Given the description of an element on the screen output the (x, y) to click on. 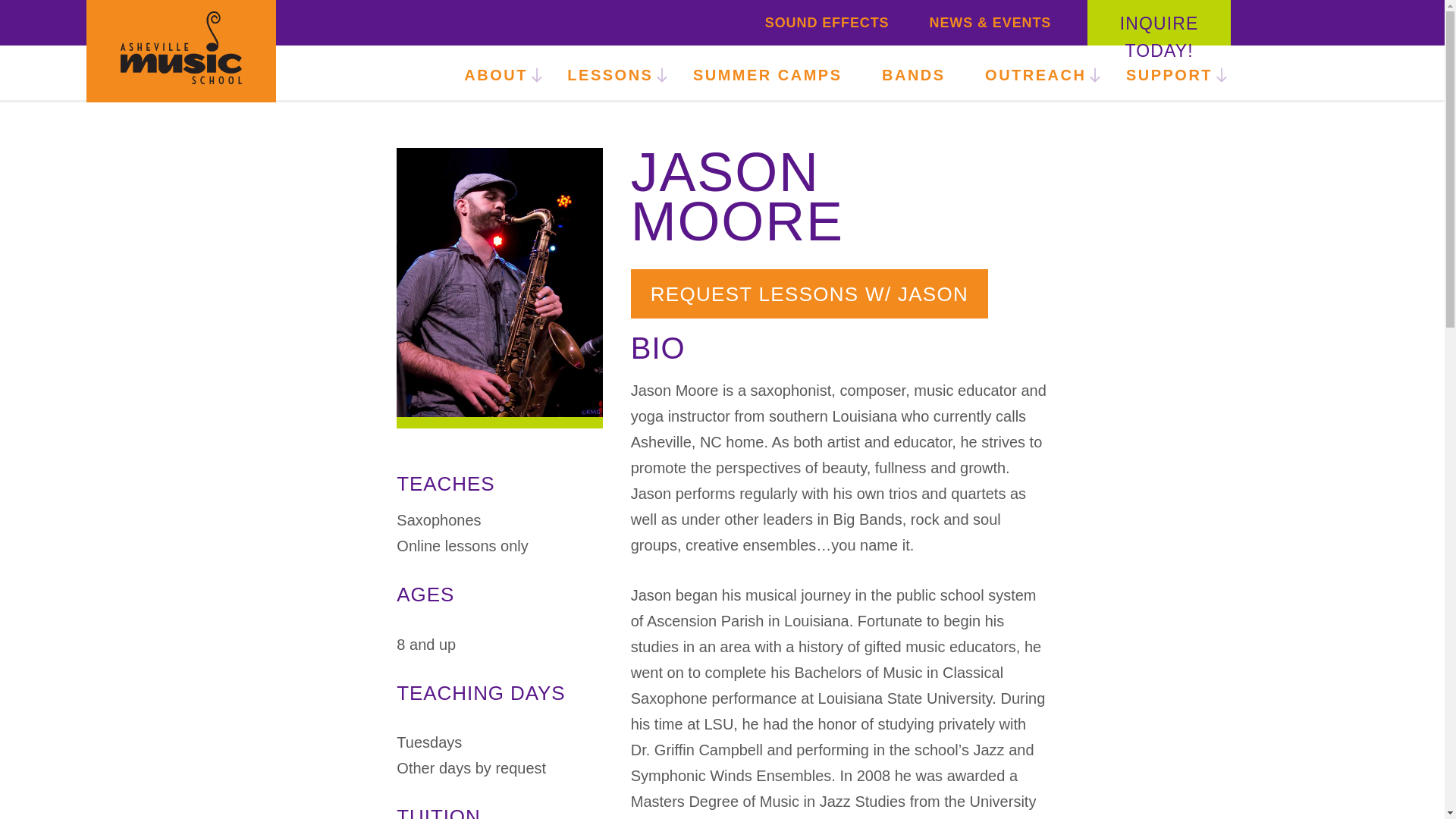
SOUND EFFECTS (827, 22)
ABOUT (502, 74)
INQUIRE TODAY! (1158, 36)
OUTREACH (1033, 74)
SUMMER CAMPS (767, 74)
BANDS (913, 74)
LESSONS (607, 74)
SUPPORT (1167, 74)
